Given the description of an element on the screen output the (x, y) to click on. 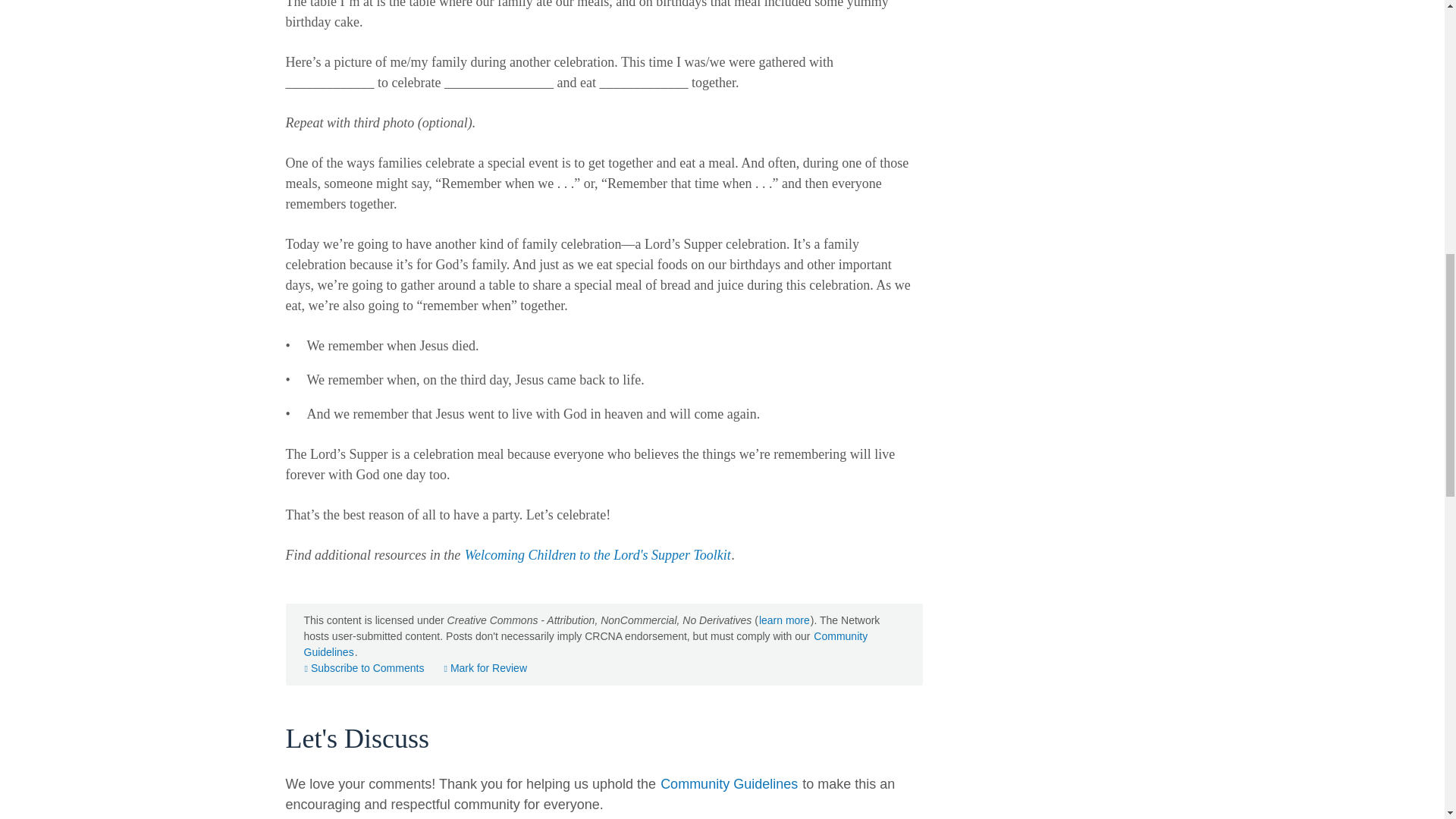
Subscribe to Comments (363, 667)
learn more (784, 620)
Community Guidelines (584, 644)
Welcoming Children to the Lord's Supper Toolkit (598, 555)
Mark for Review (484, 667)
Community Guidelines (728, 783)
